Given the description of an element on the screen output the (x, y) to click on. 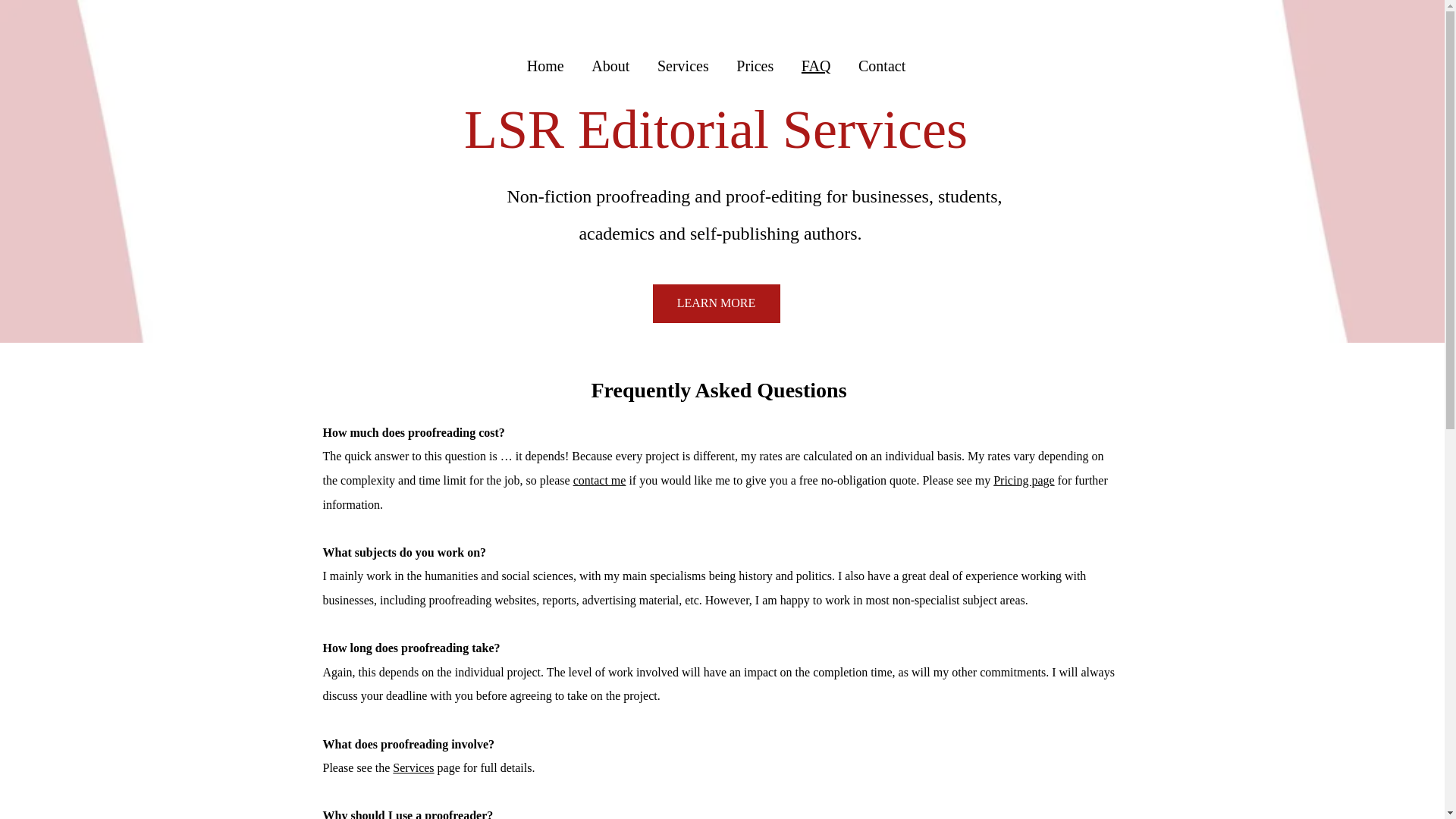
Home (545, 65)
contact me (599, 480)
Contact (882, 65)
FAQ (815, 65)
Pricing page (1023, 480)
LEARN MORE (715, 303)
About (610, 65)
Services (682, 65)
Services (413, 767)
Prices (754, 65)
